Given the description of an element on the screen output the (x, y) to click on. 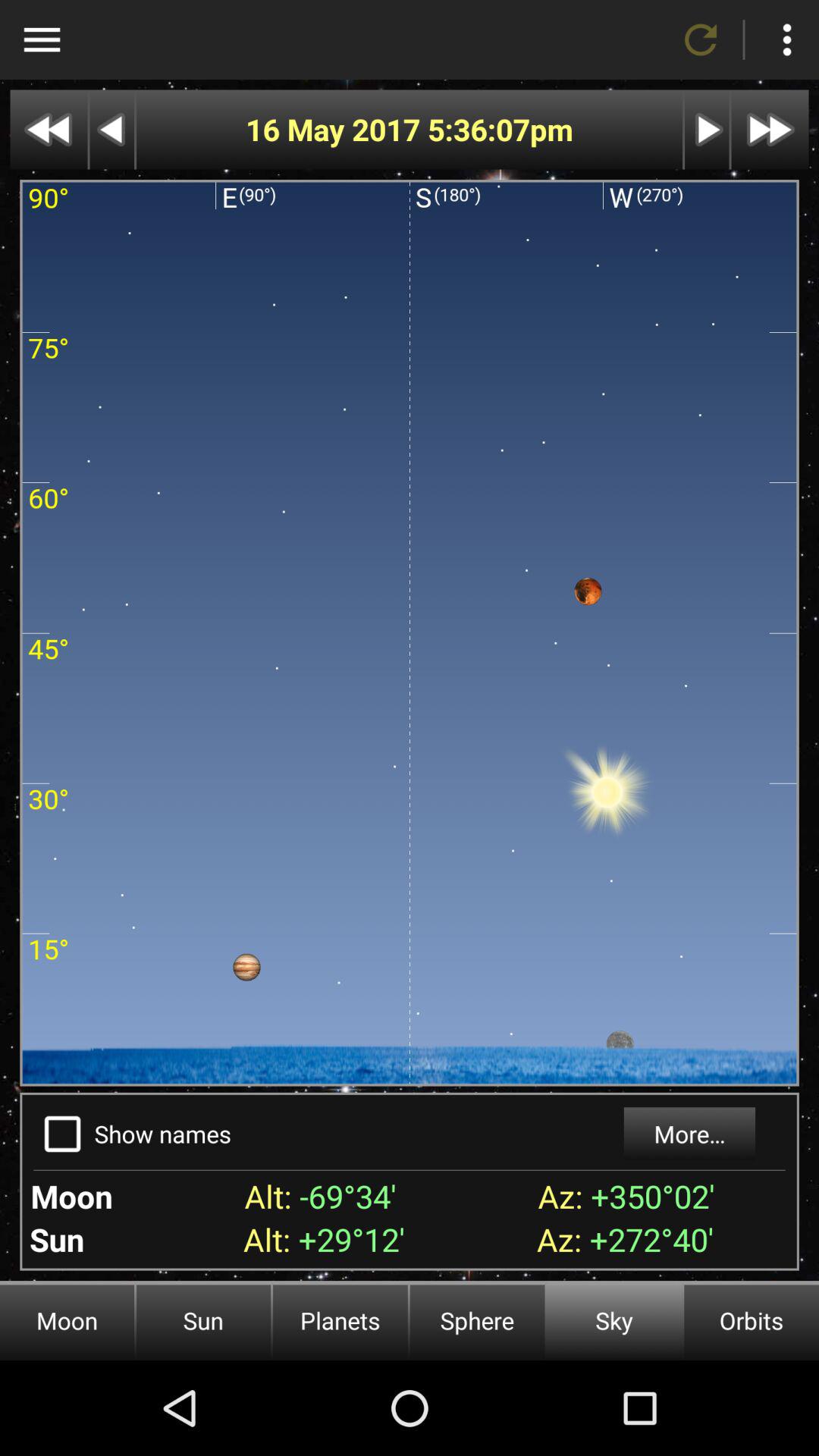
refresh (700, 39)
